Given the description of an element on the screen output the (x, y) to click on. 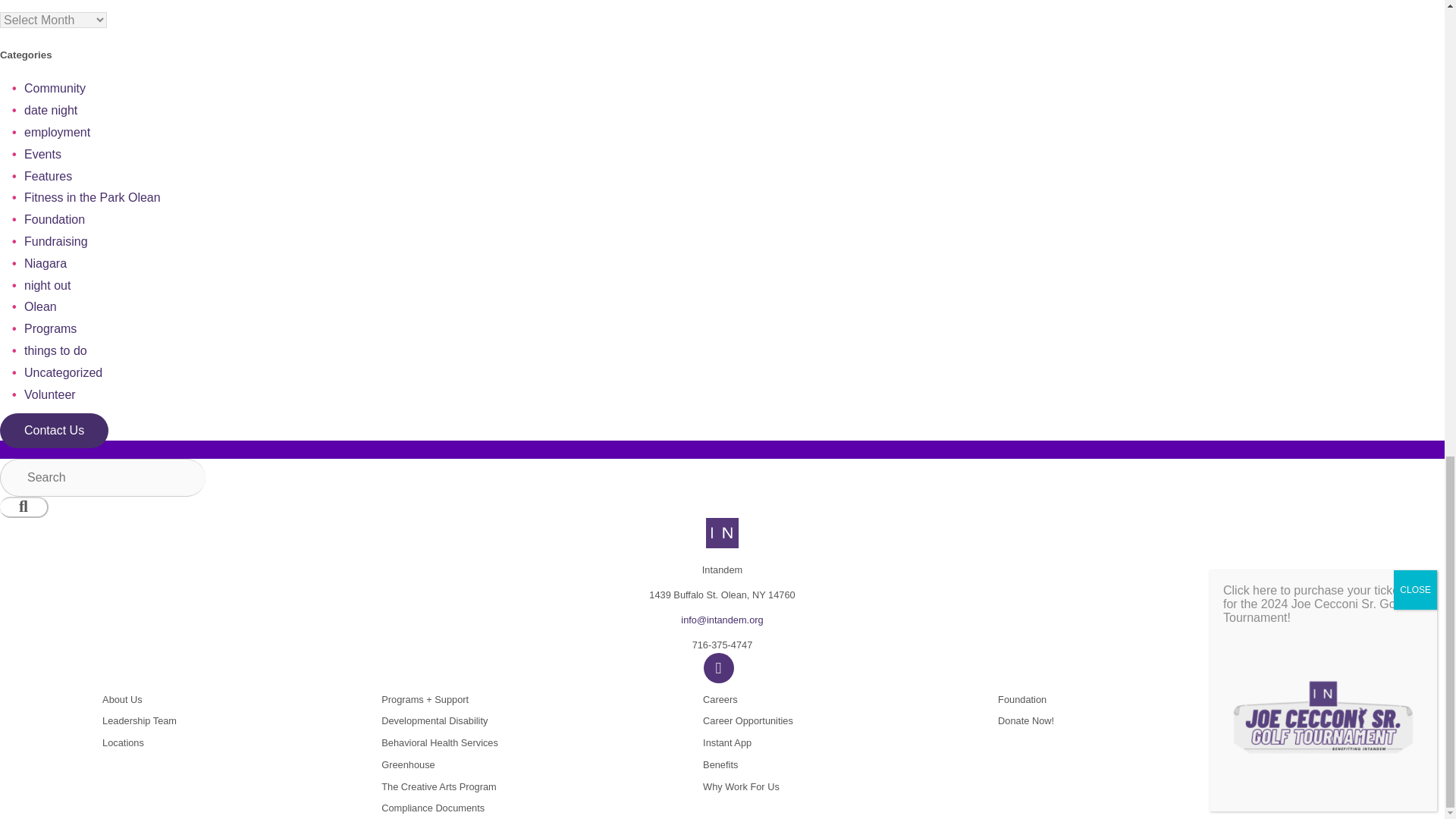
employment (57, 132)
Events (42, 154)
date night (50, 110)
Community (54, 88)
